Given the description of an element on the screen output the (x, y) to click on. 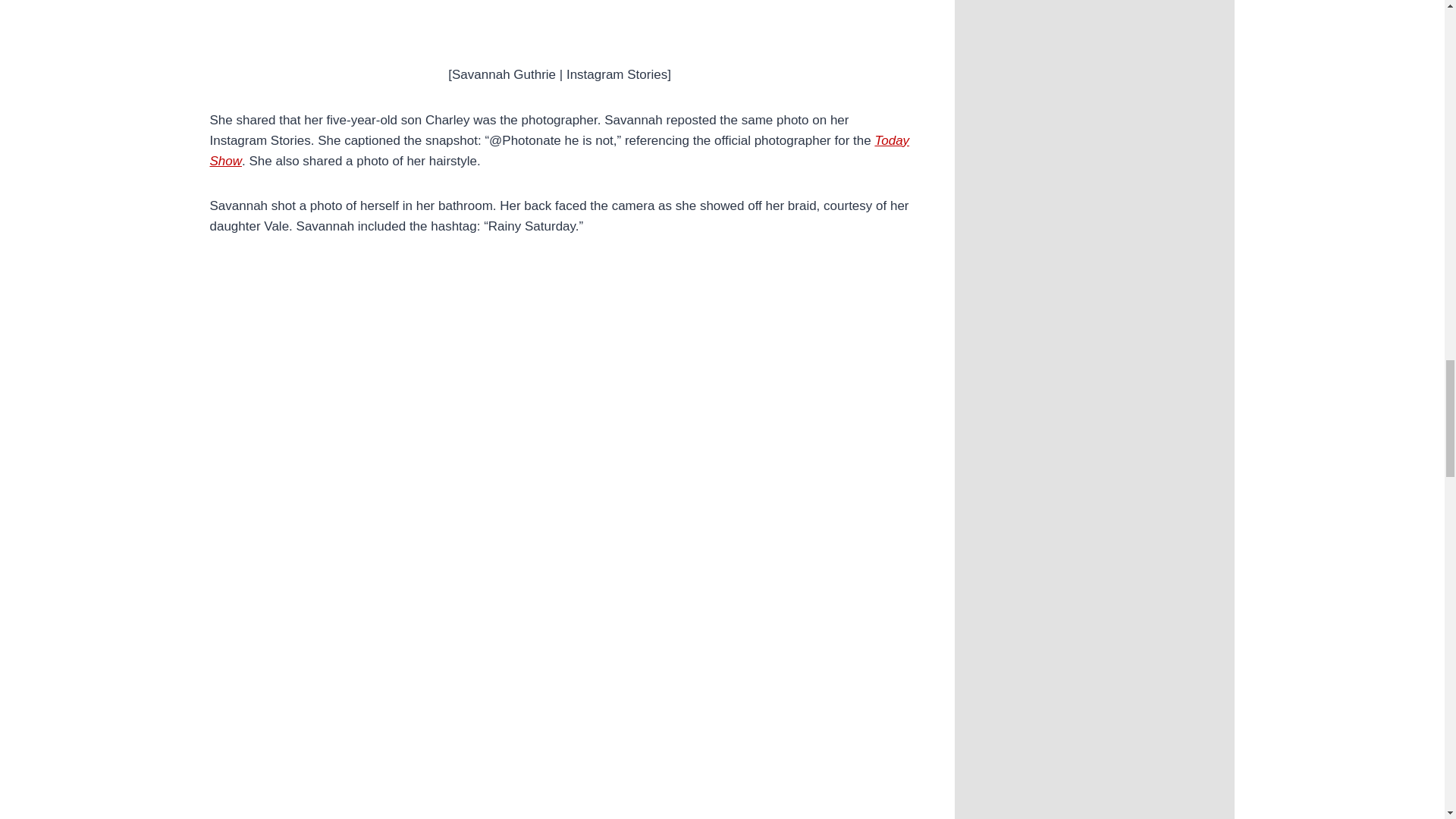
Today Show (558, 150)
